Given the description of an element on the screen output the (x, y) to click on. 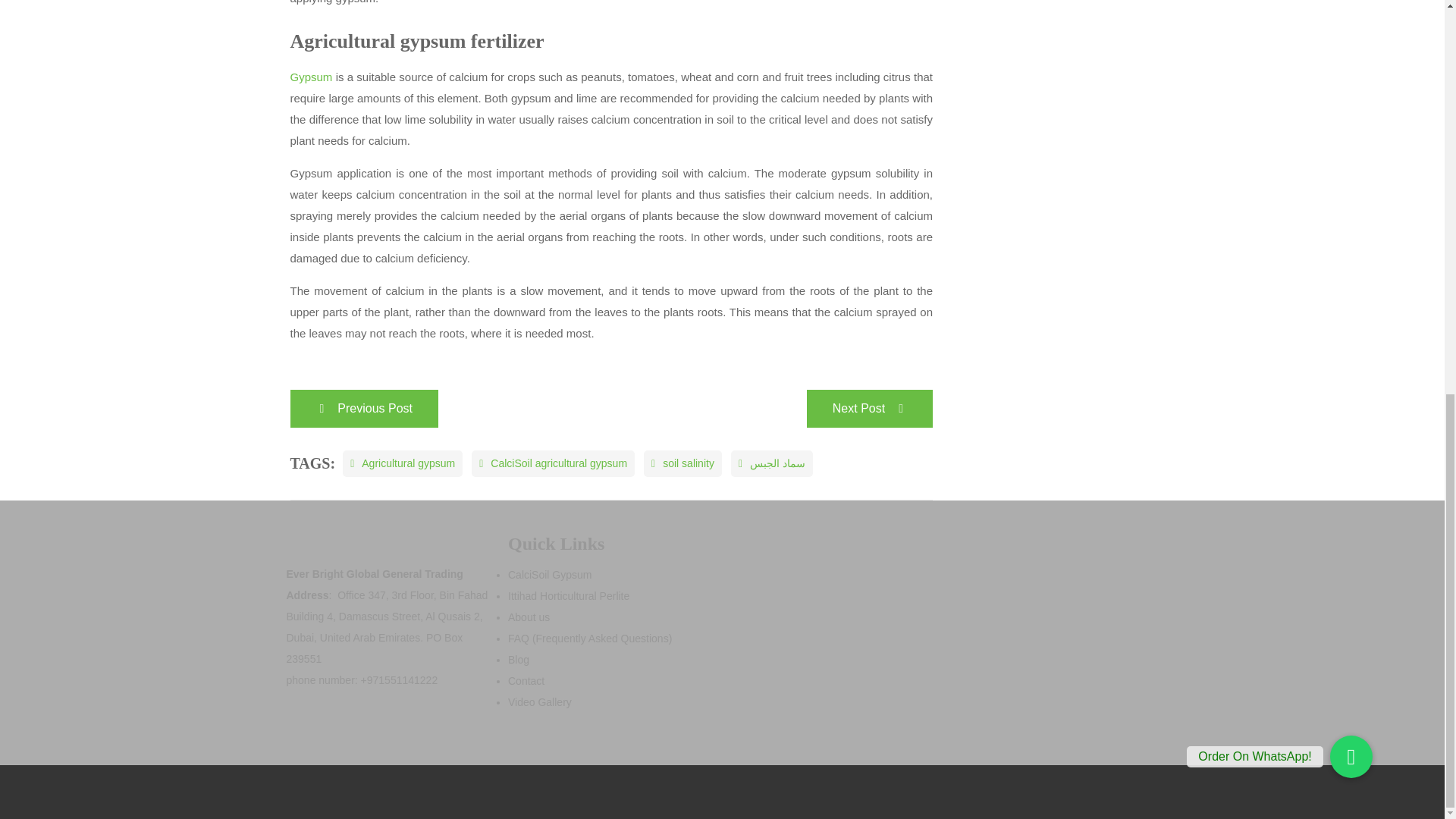
Agricultural gypsum (402, 463)
Ittihad Horticultural Perlite (568, 595)
Contact (526, 680)
Previous Post (363, 408)
CalciSoil Gypsum (549, 574)
Next Post (869, 408)
Gypsum (310, 76)
Blog (518, 659)
CalciSoil agricultural gypsum (552, 463)
About us (529, 616)
soil salinity (682, 463)
